Given the description of an element on the screen output the (x, y) to click on. 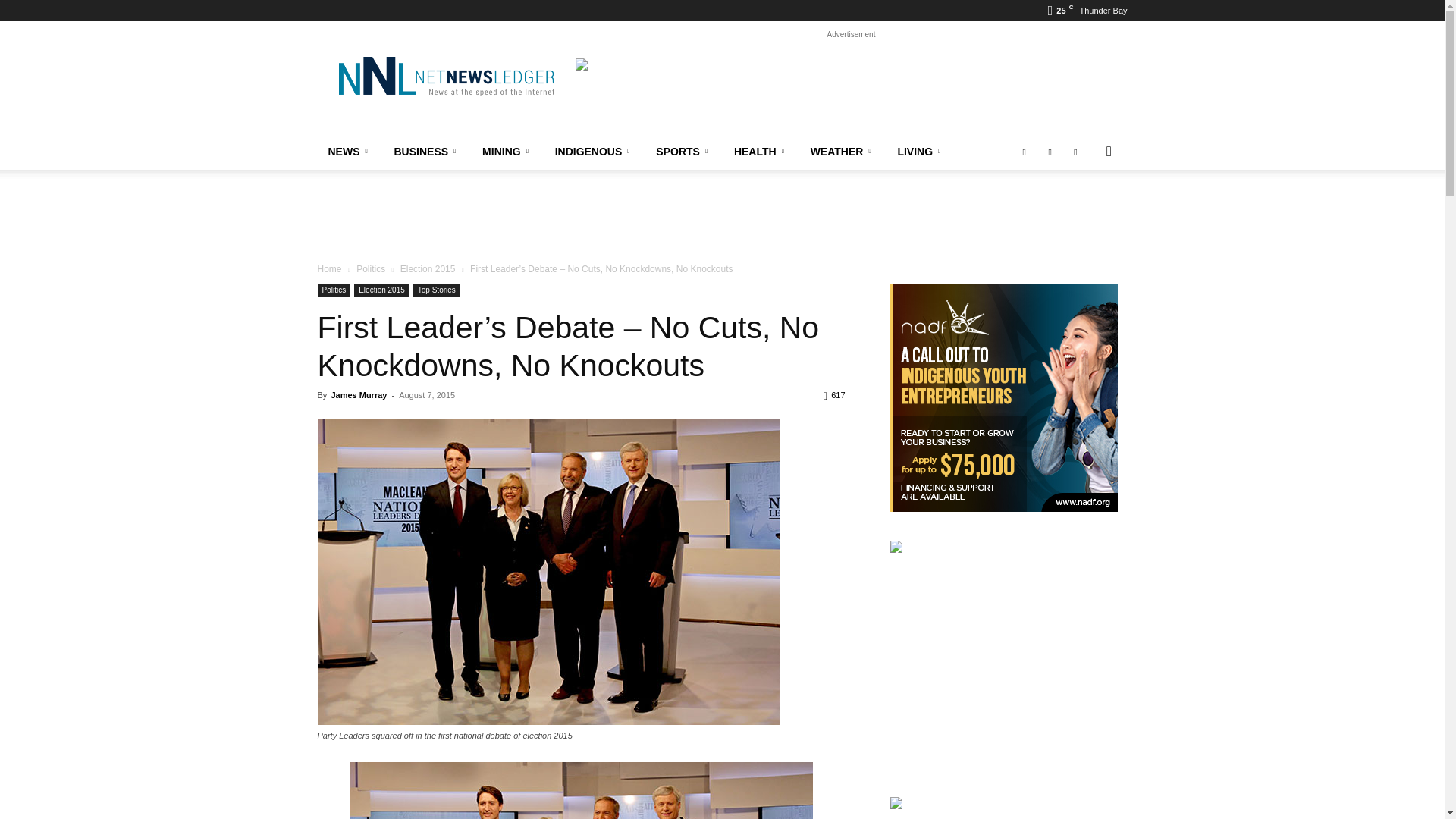
View all posts in Politics (370, 268)
NetNewsLedger (445, 76)
View all posts in Election 2015 (427, 268)
tbaytel (850, 92)
